Given the description of an element on the screen output the (x, y) to click on. 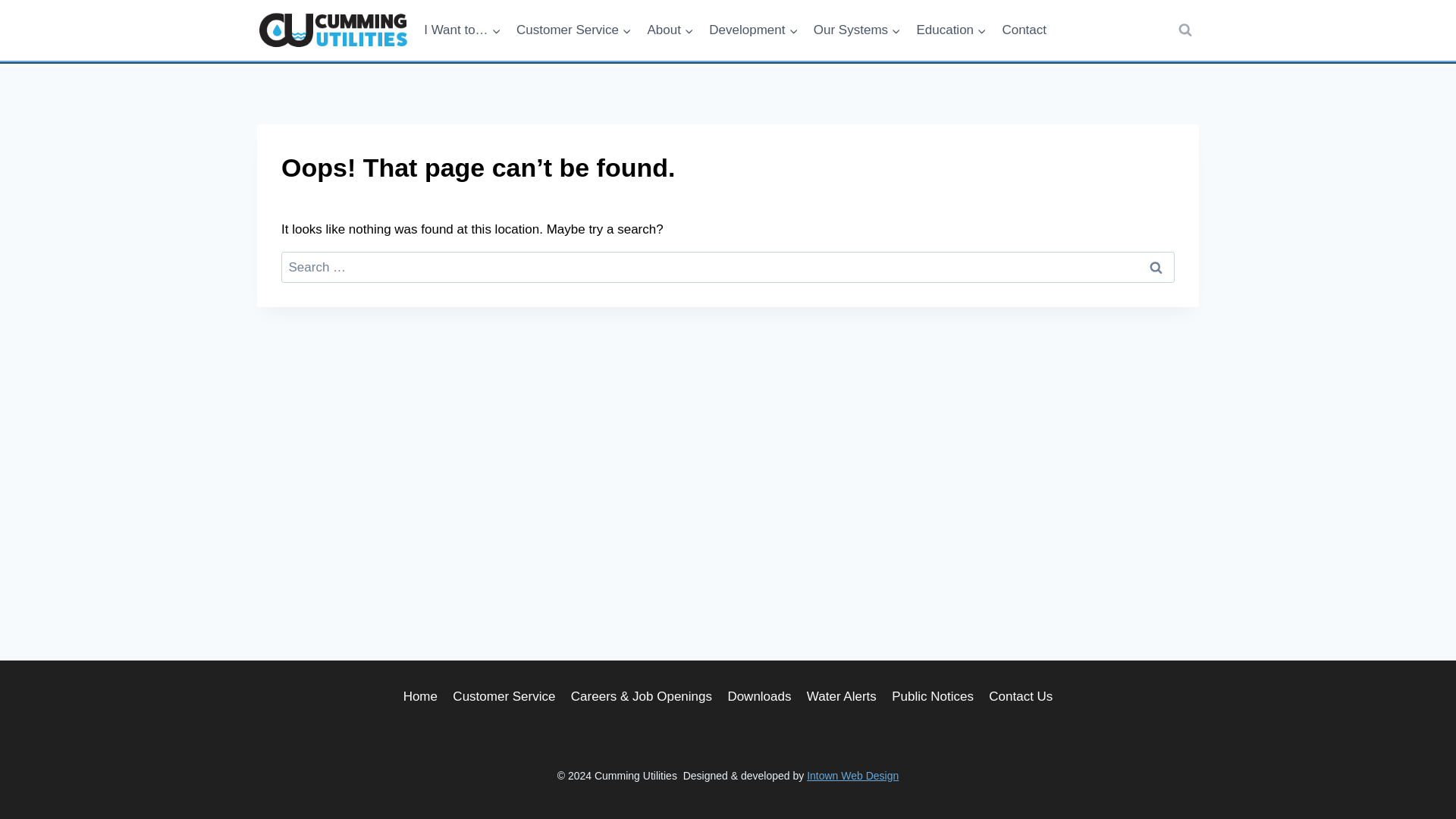
Search (1155, 266)
Search (1155, 266)
About (670, 30)
Customer Service (573, 30)
